Given the description of an element on the screen output the (x, y) to click on. 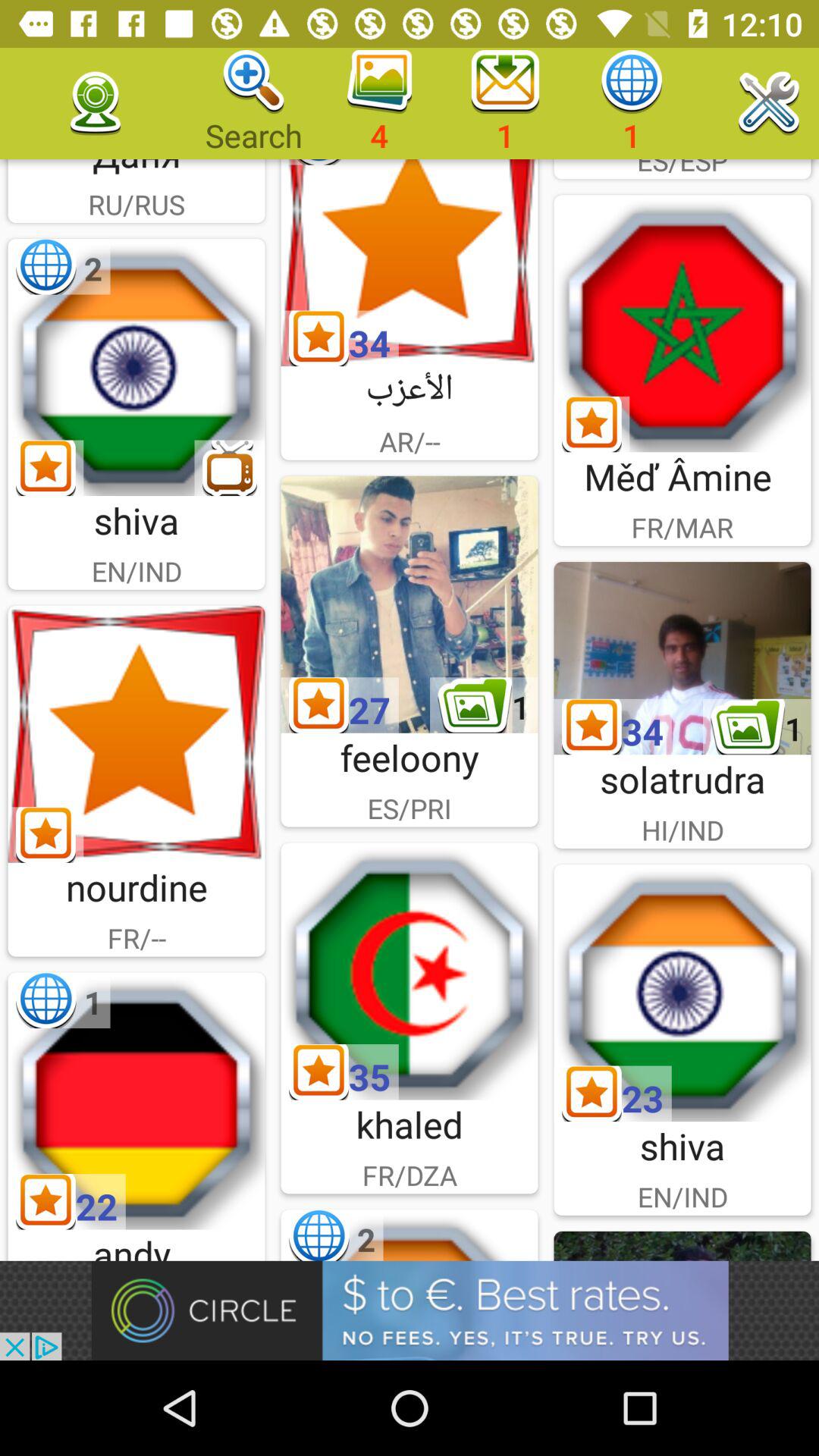
select flag (409, 970)
